Given the description of an element on the screen output the (x, y) to click on. 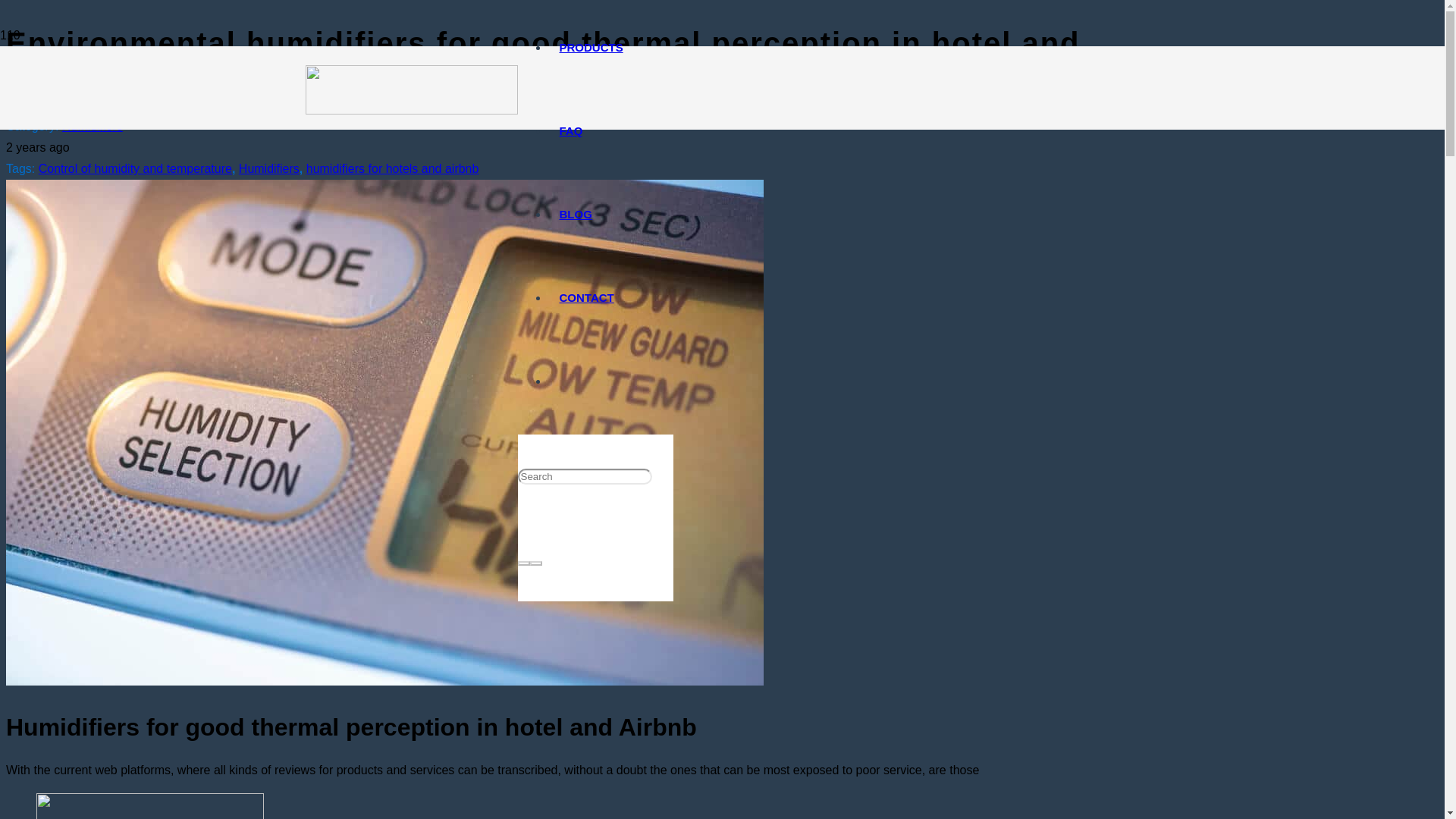
humidifiers for hotels and airbnb (392, 168)
CONTACT (585, 297)
Humidifiers (92, 125)
BLOG (574, 214)
FAQ (570, 130)
25 May 2022 at 17:23:50 -05:00 (37, 146)
PRODUCTS (590, 47)
Humidifiers (268, 168)
Control of humidity and temperature (135, 168)
